Given the description of an element on the screen output the (x, y) to click on. 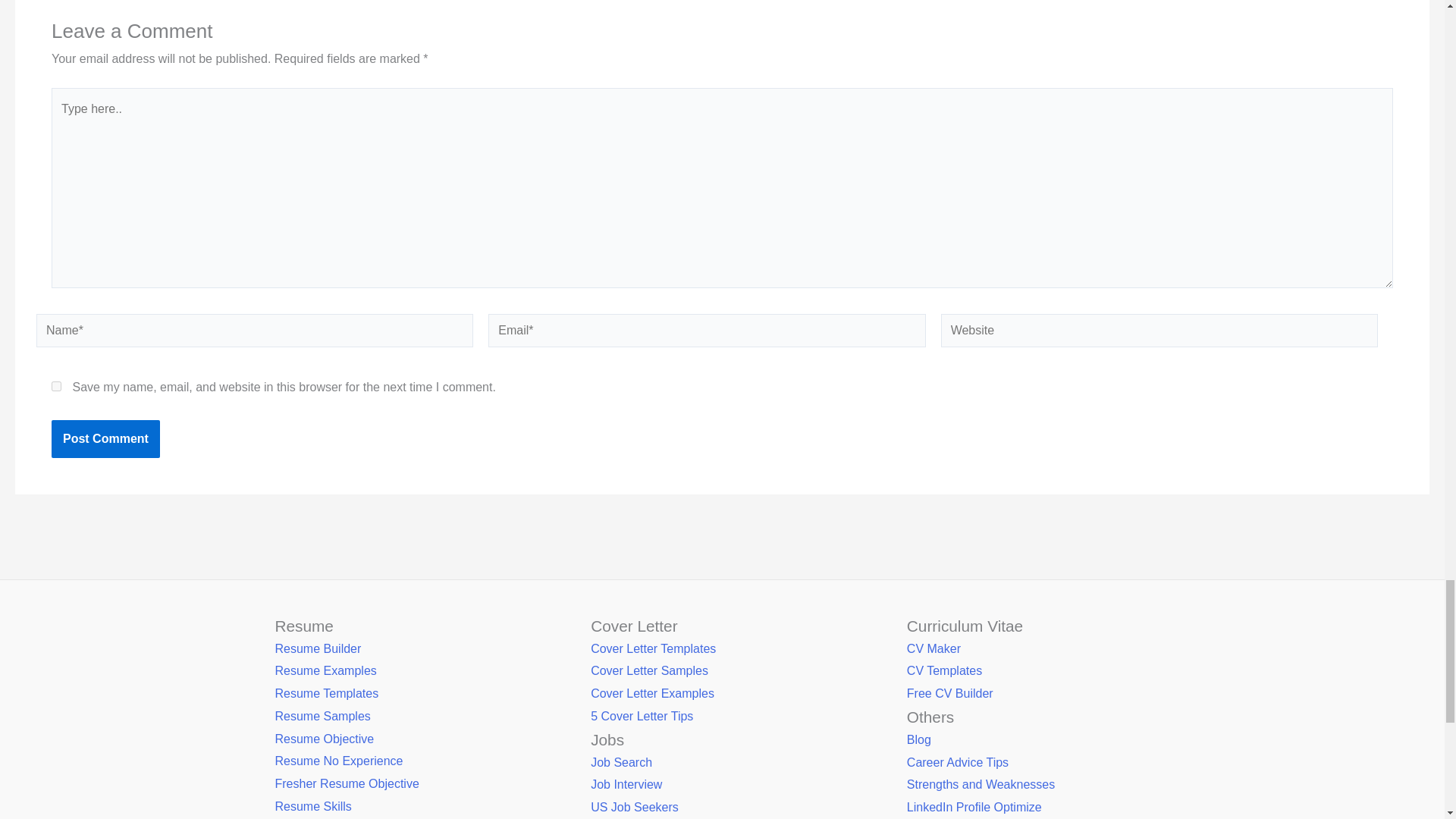
Post Comment (105, 438)
yes (55, 386)
